Given the description of an element on the screen output the (x, y) to click on. 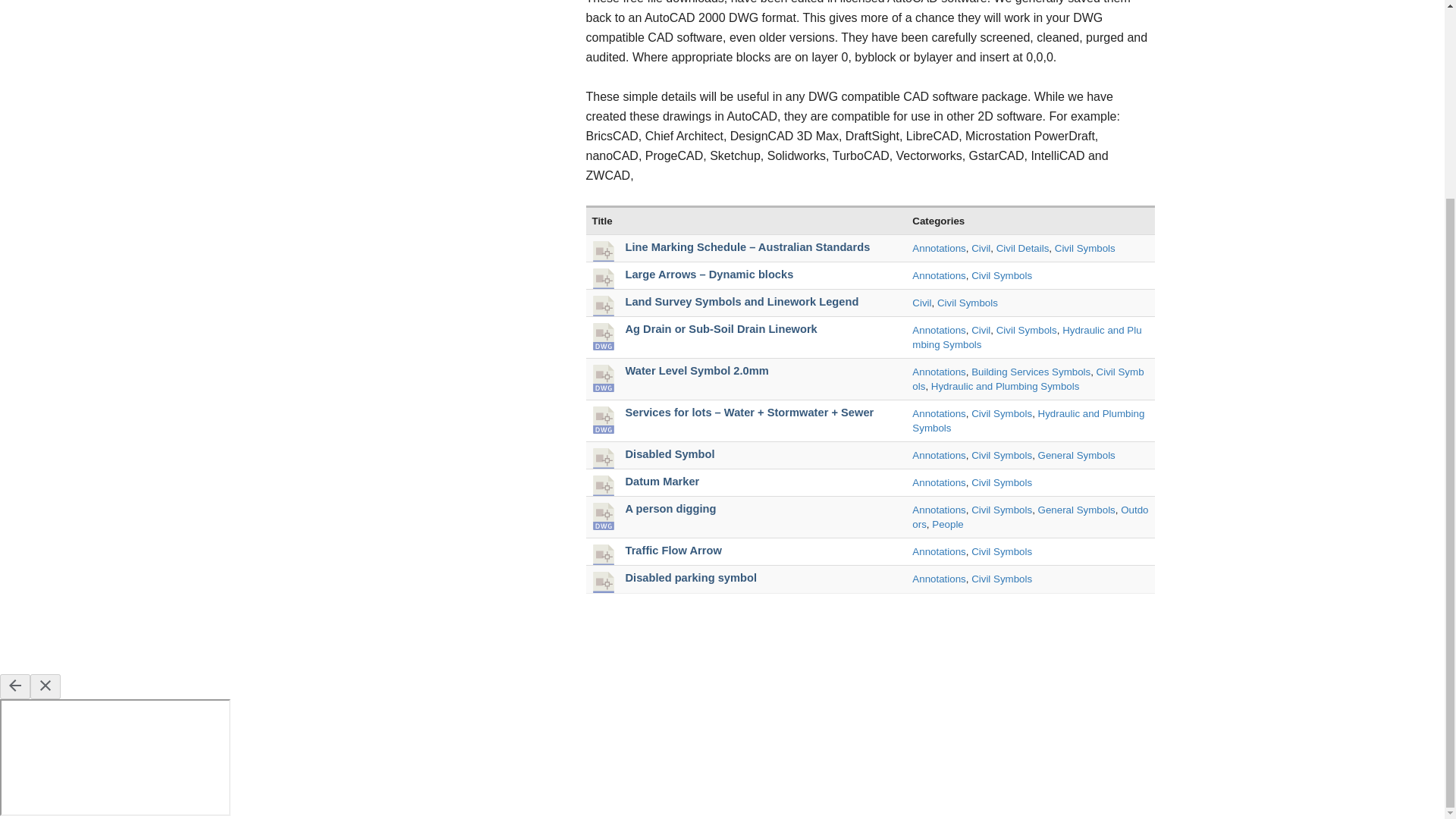
Annotations (938, 482)
Civil Symbols (1084, 247)
General Symbols (1076, 509)
Water Level Symbol 2.0mm (696, 370)
Annotations (938, 509)
Civil (921, 302)
Hydraulic and Plumbing Symbols (1005, 386)
Annotations (938, 275)
General Symbols (1076, 455)
Civil Symbols (1026, 329)
Civil Symbols (967, 302)
Civil Symbols (1001, 413)
Civil Symbols (1001, 455)
Annotations (938, 247)
Civil Symbols (1001, 275)
